Given the description of an element on the screen output the (x, y) to click on. 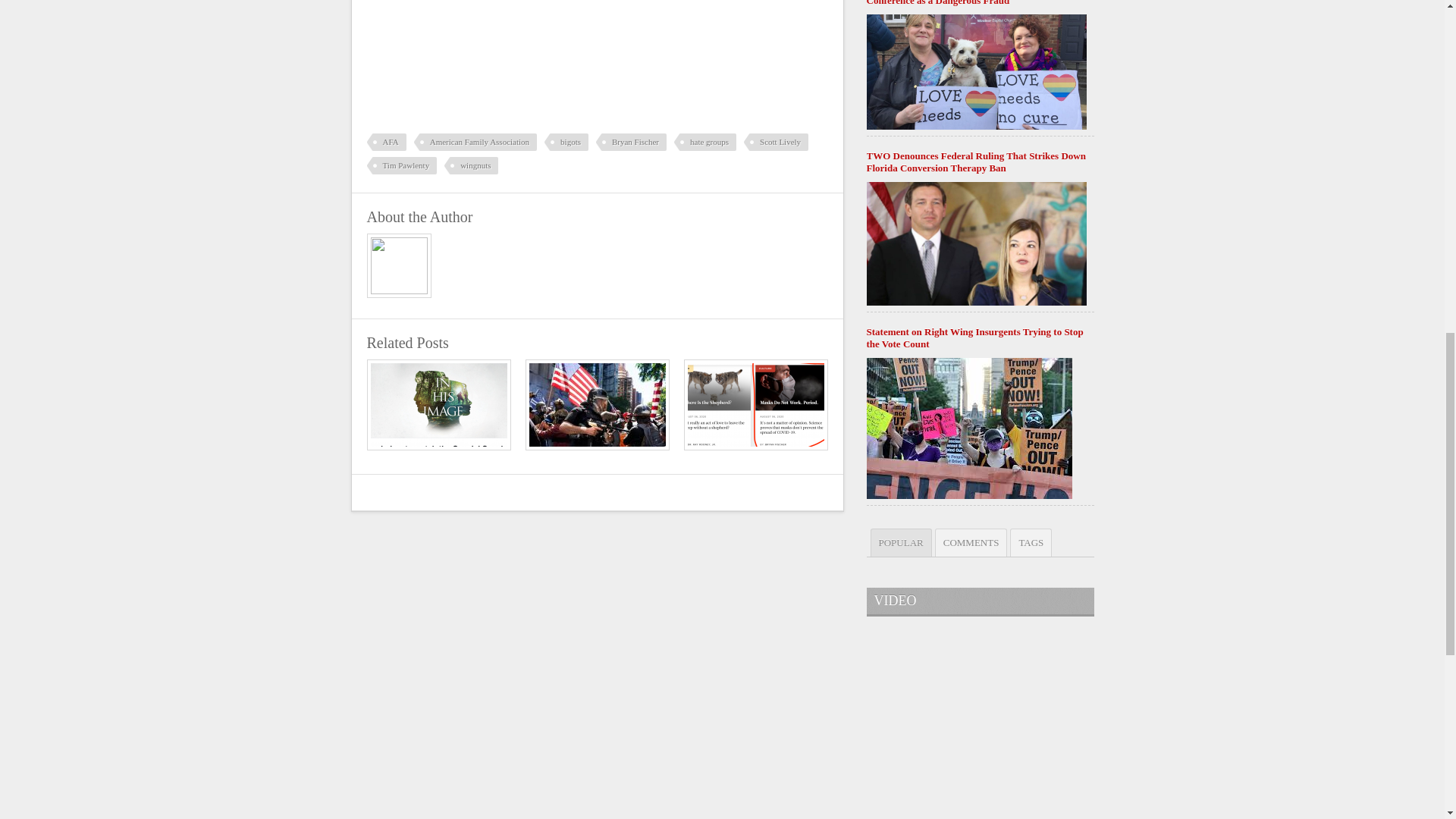
bigots (566, 141)
Bryan Fischer (630, 141)
AFA (386, 141)
hate groups (705, 141)
American Family Association (475, 141)
Scott Lively (776, 141)
